Given the description of an element on the screen output the (x, y) to click on. 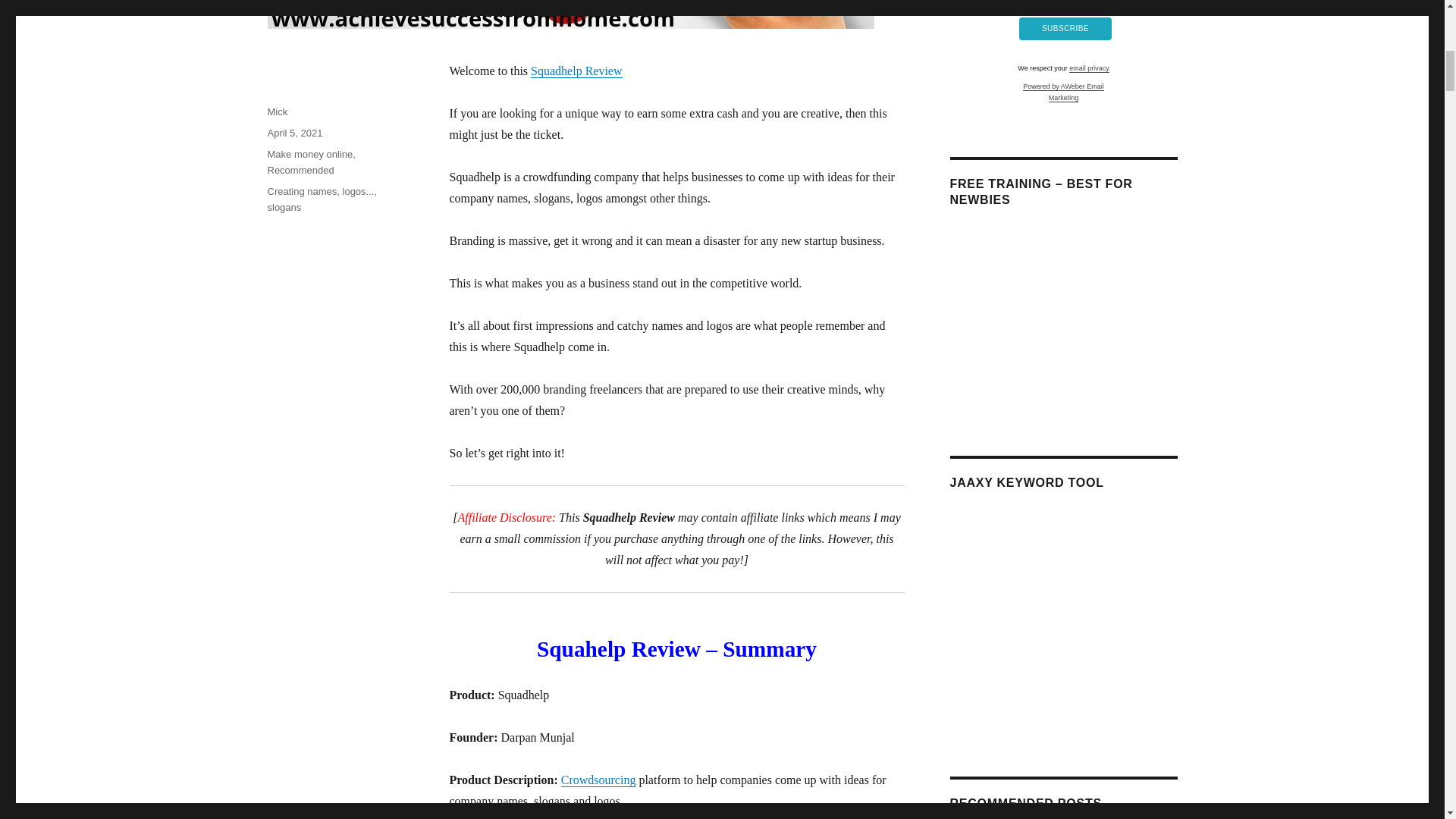
Subscribe (1065, 28)
